Given the description of an element on the screen output the (x, y) to click on. 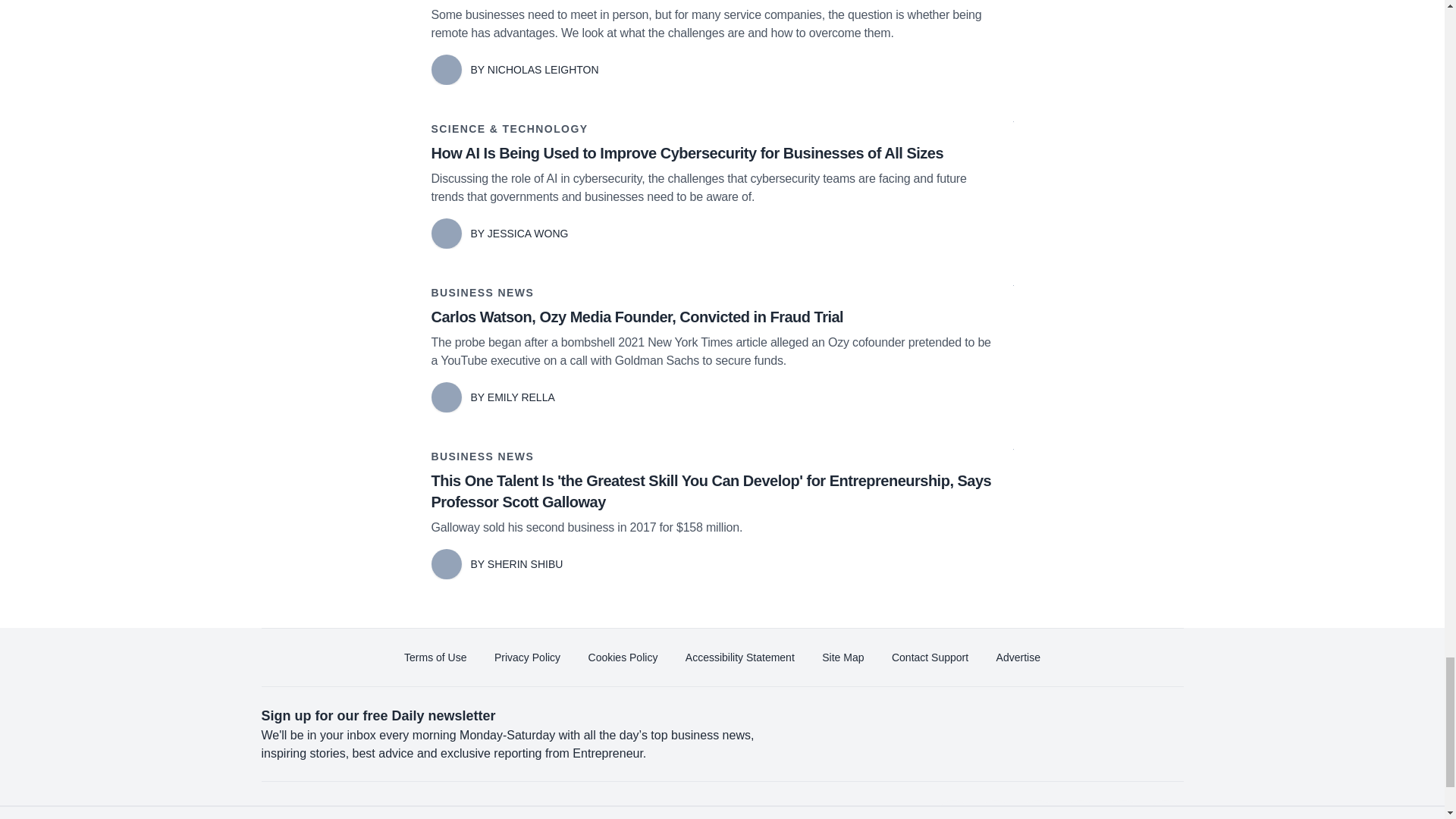
youtube (1079, 809)
linkedin (1037, 809)
twitter (994, 809)
facebook (952, 809)
instagram (1121, 809)
rss (1164, 809)
